Given the description of an element on the screen output the (x, y) to click on. 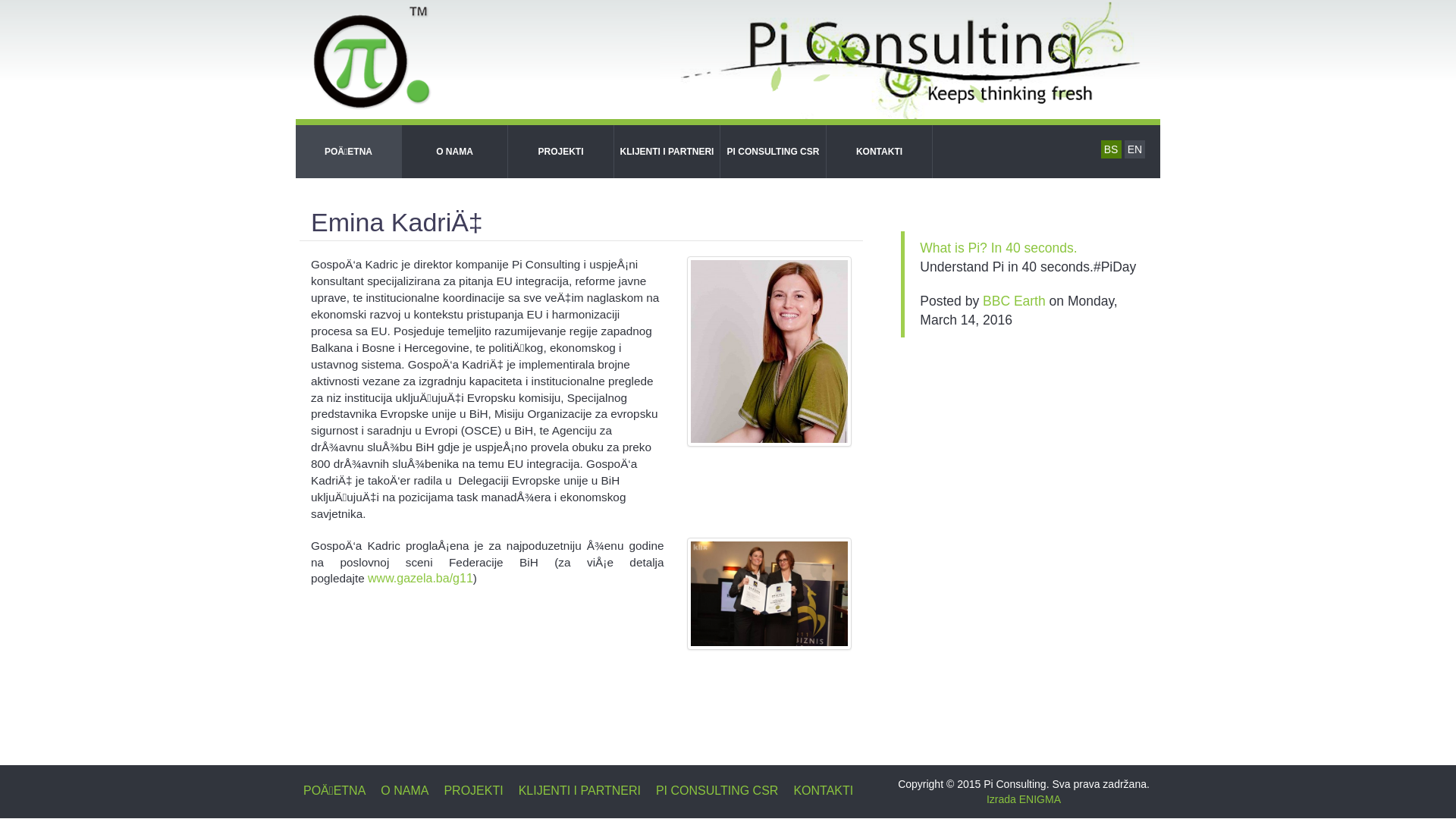
www.gazela.ba/g11 Element type: text (420, 577)
PROJEKTI Element type: text (473, 790)
KLIJENTI I PARTNERI Element type: text (579, 790)
KONTAKTI Element type: text (879, 151)
What is Pi? In 40 seconds. Element type: text (997, 247)
PI CONSULTING CSR Element type: text (773, 151)
EN Element type: text (1134, 149)
PI CONSULTING CSR Element type: text (717, 790)
BS Element type: text (1111, 149)
BBC Earth Element type: text (1013, 300)
O NAMA Element type: text (404, 790)
PROJEKTI Element type: text (561, 151)
Emina Kadric Element type: hover (769, 350)
Izrada ENIGMA Element type: text (1023, 798)
KLIJENTI I PARTNERI Element type: text (667, 151)
O NAMA Element type: text (454, 151)
KONTAKTI Element type: text (822, 790)
